Given the description of an element on the screen output the (x, y) to click on. 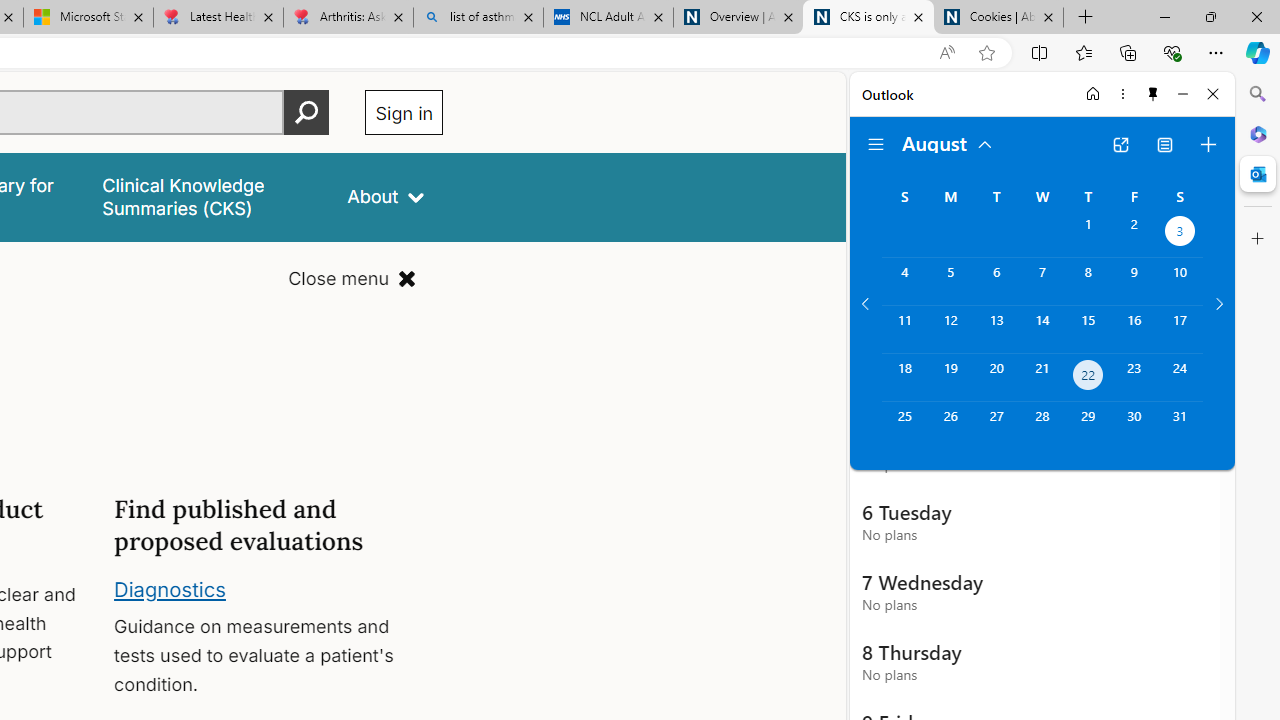
Close menu (352, 278)
